Given the description of an element on the screen output the (x, y) to click on. 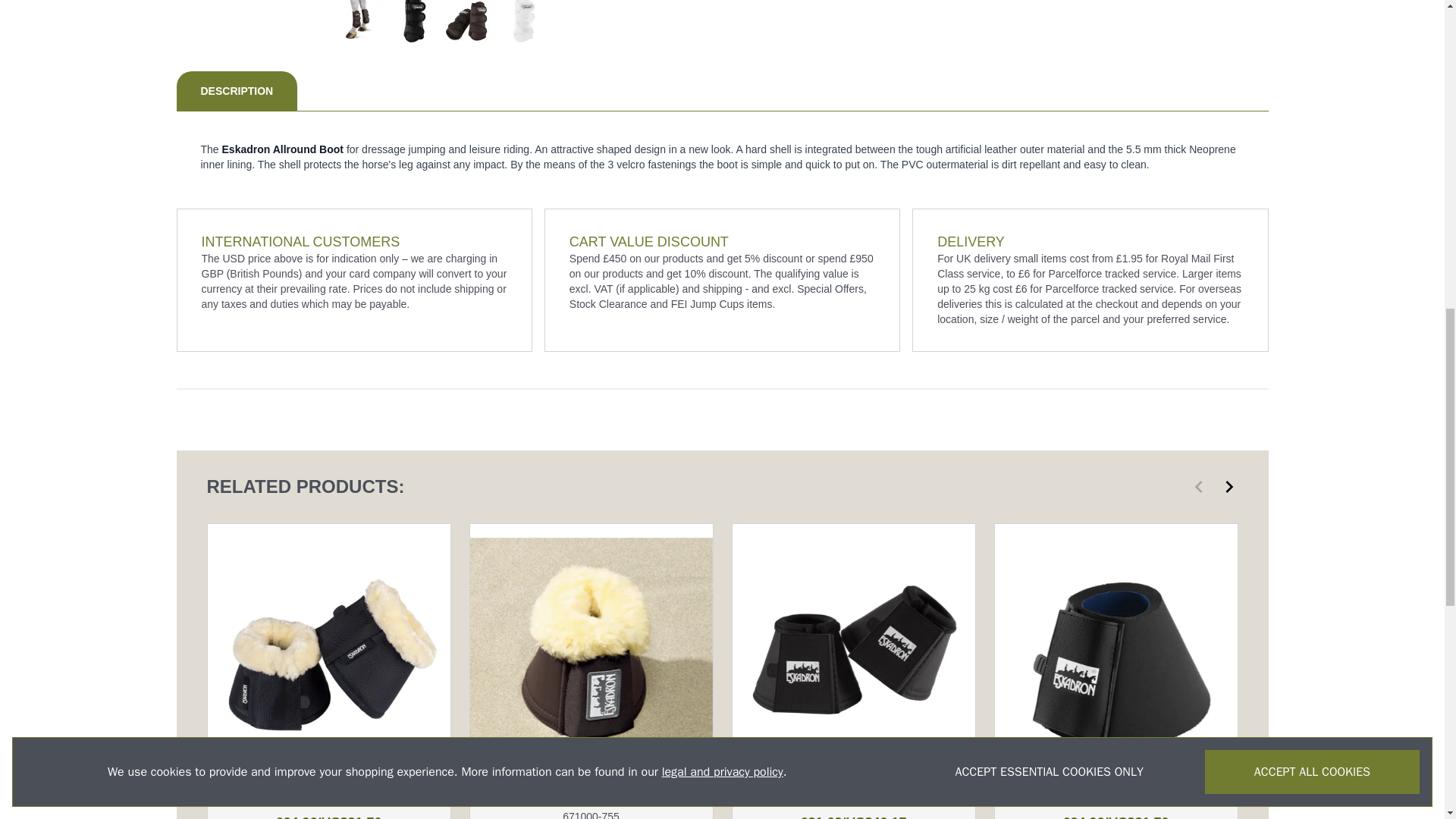
Eskadron - Allround Boot - Front - 514000-765 (468, 22)
Eskadron - Allround Boot - Front - 514000-765 (358, 22)
Eskadron - Allround Boot - Front - 514000-765 (522, 22)
Eskadron - Allround Boot - Front - 514000-765 (413, 22)
